Given the description of an element on the screen output the (x, y) to click on. 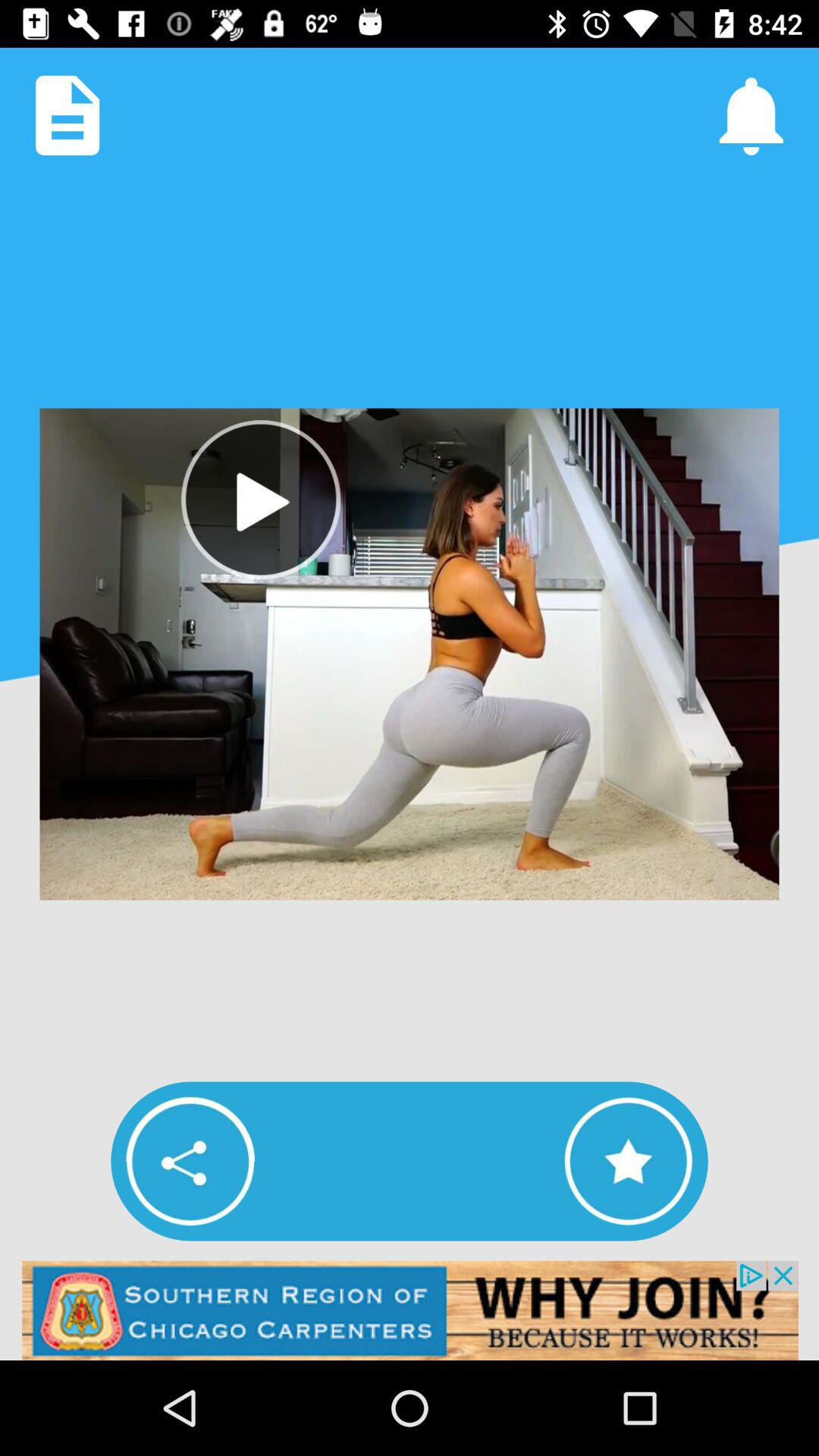
save to favorites (628, 1161)
